Given the description of an element on the screen output the (x, y) to click on. 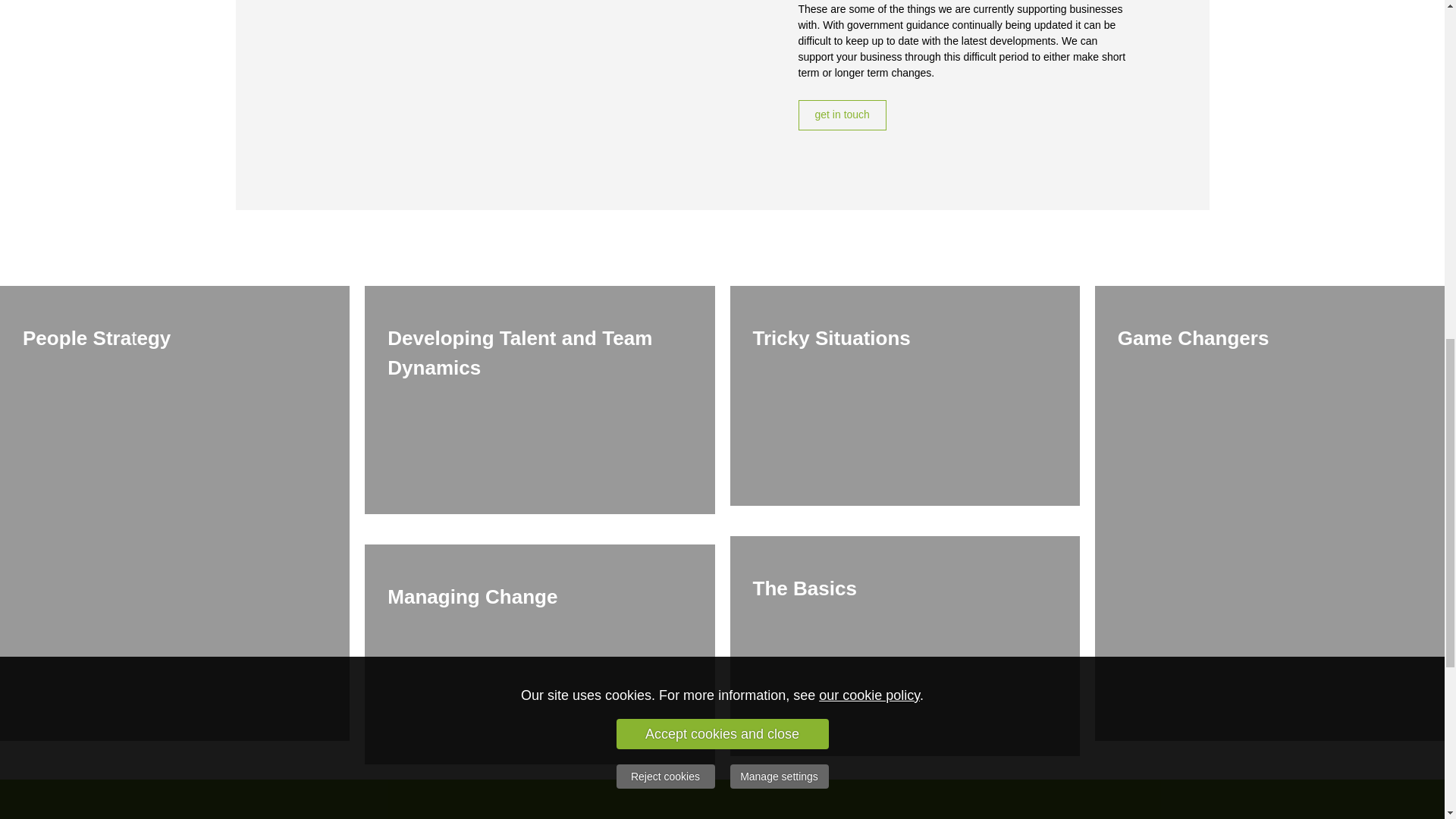
Managing Change (472, 599)
Developing Talent and Team Dynamics (519, 355)
get in touch (841, 115)
People Strategy (96, 340)
